Given the description of an element on the screen output the (x, y) to click on. 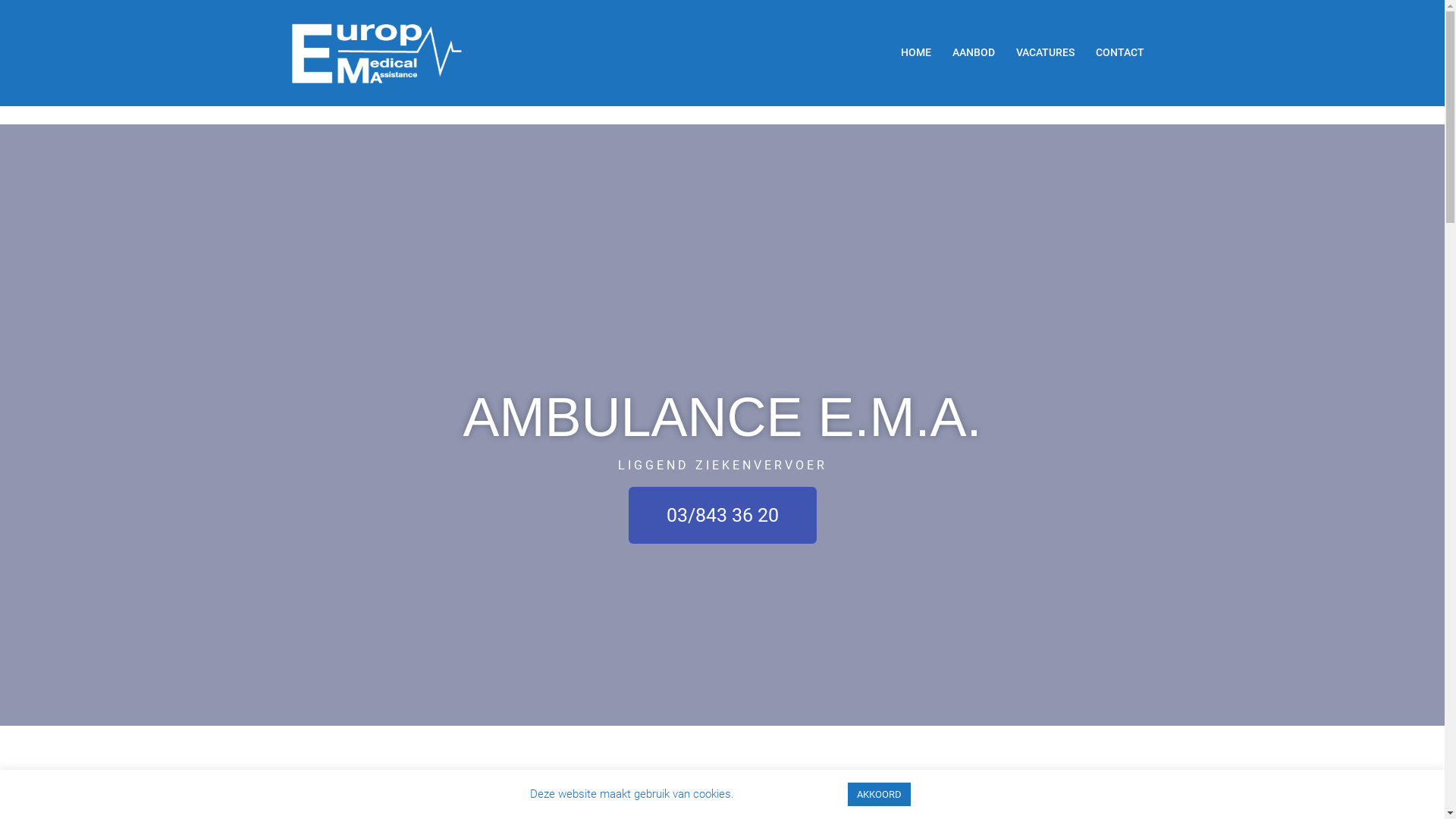
AANBOD Element type: text (973, 52)
CONTACT Element type: text (1119, 52)
03/843 36 20 Element type: text (721, 514)
Cookie settings Element type: text (790, 793)
AKKOORD Element type: text (878, 794)
HOME Element type: text (915, 52)
AMBULANCE E.M.A. Element type: hover (375, 51)
VACATURES Element type: text (1045, 52)
